Given the description of an element on the screen output the (x, y) to click on. 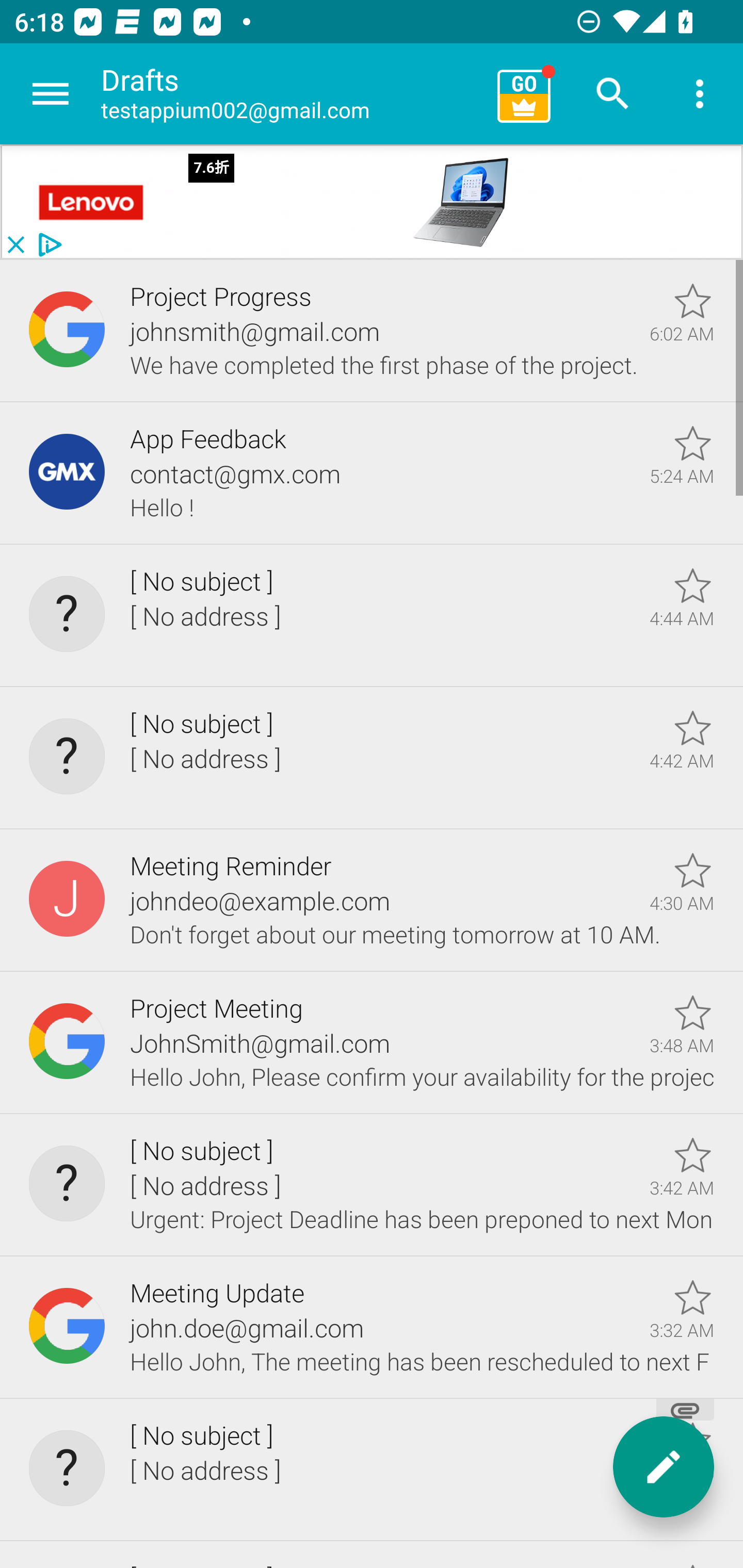
Navigate up (50, 93)
Drafts testappium002@gmail.com (291, 93)
Search (612, 93)
More options (699, 93)
App Feedback, contact@gmx.com, 5:24 AM, Hello ! (371, 473)
[ No subject ], [ No address ], 4:44 AM (371, 615)
[ No subject ], [ No address ], 4:42 AM (371, 757)
New message (663, 1466)
